Given the description of an element on the screen output the (x, y) to click on. 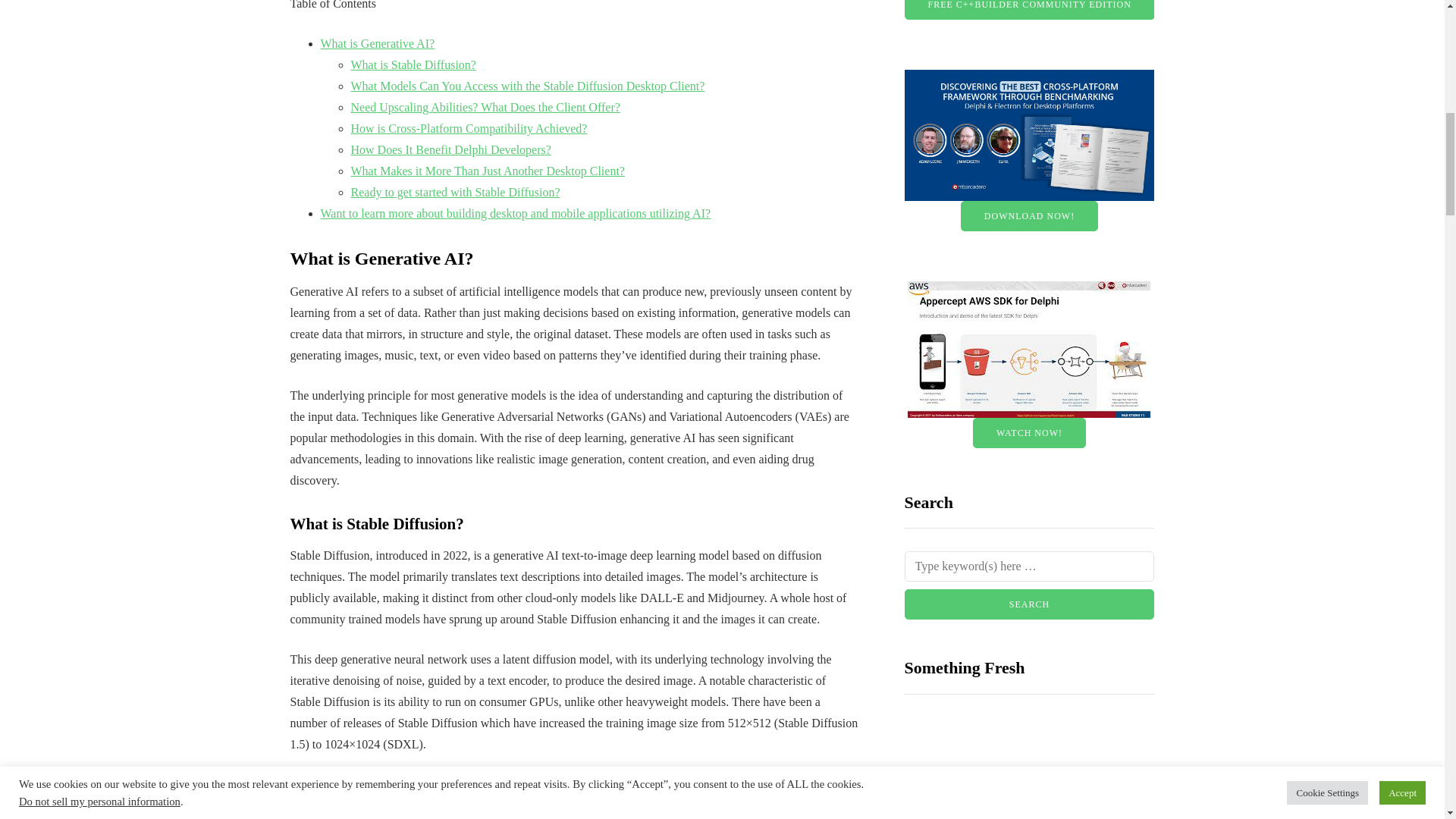
Ready to get started with Stable Diffusion? (454, 192)
What Makes it More Than Just Another Desktop Client? (487, 170)
Need Upscaling Abilities? What Does the Client Offer? (485, 106)
How is Cross-Platform Compatibility Achieved? (468, 128)
What is Stable Diffusion? (413, 64)
What is Generative AI? (376, 42)
Search (1029, 603)
How Does It Benefit Delphi Developers? (450, 149)
